Given the description of an element on the screen output the (x, y) to click on. 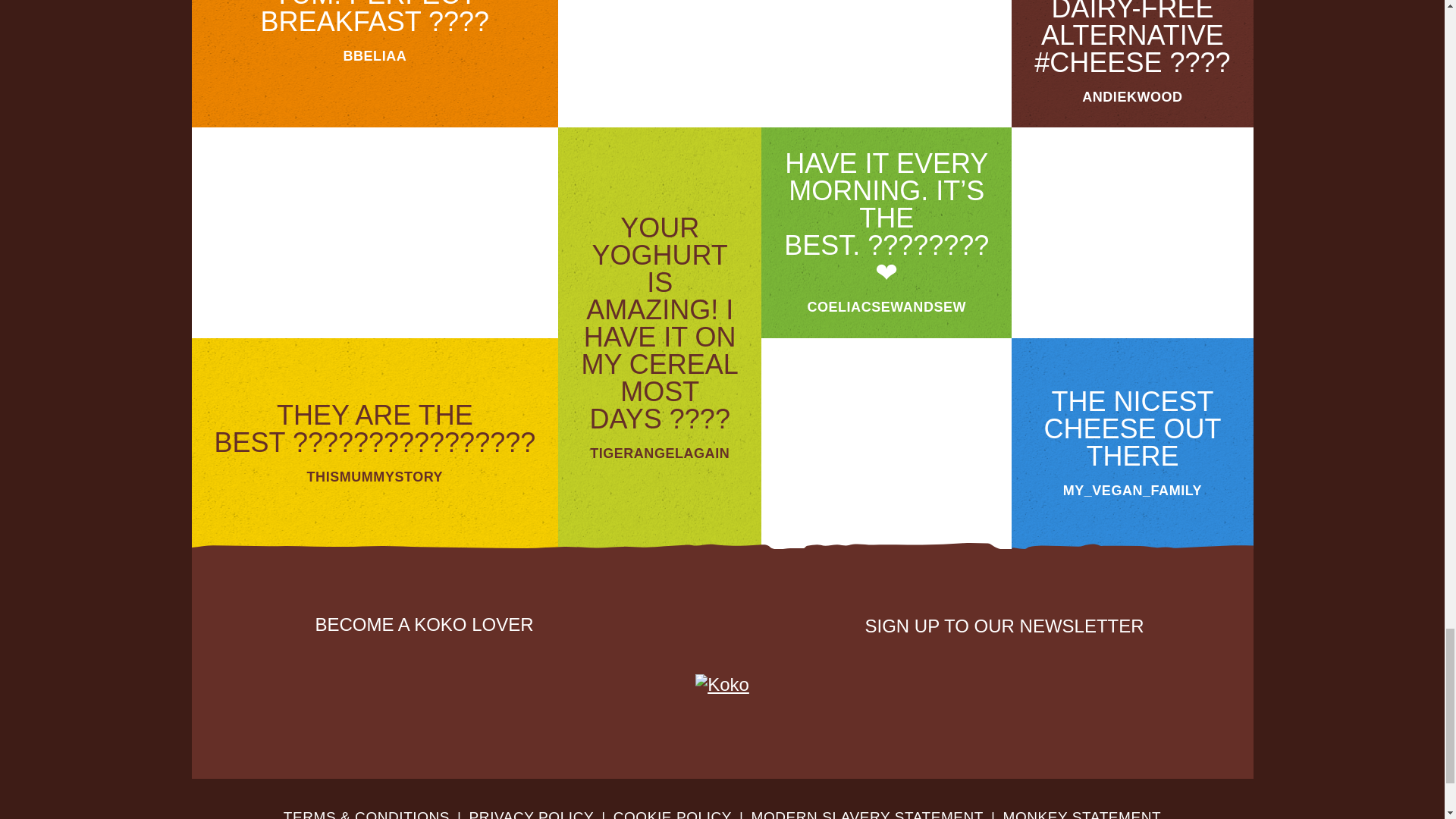
MONKEY STATEMENT (1082, 814)
SUBMIT (1119, 673)
COOKIE POLICY (672, 814)
PRIVACY POLICY (531, 814)
MODERN SLAVERY STATEMENT (867, 814)
